Given the description of an element on the screen output the (x, y) to click on. 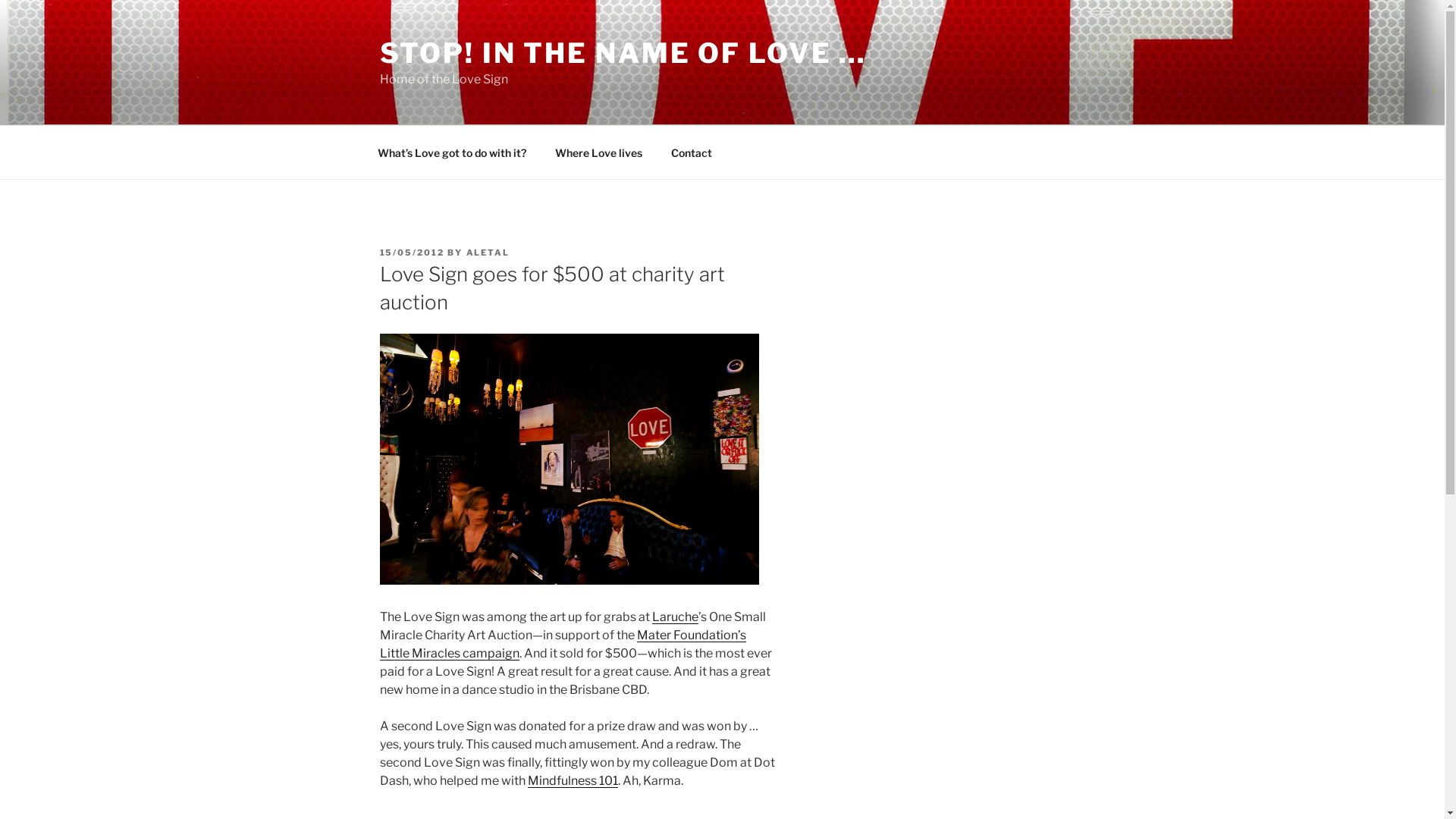
ALETAL Element type: text (487, 252)
15/05/2012 Element type: text (411, 252)
Mindfulness 101 Element type: text (572, 780)
Love @ Laruche Element type: hover (568, 458)
Laruche Element type: text (675, 616)
Where Love lives Element type: text (598, 151)
Contact Element type: text (691, 151)
